Given the description of an element on the screen output the (x, y) to click on. 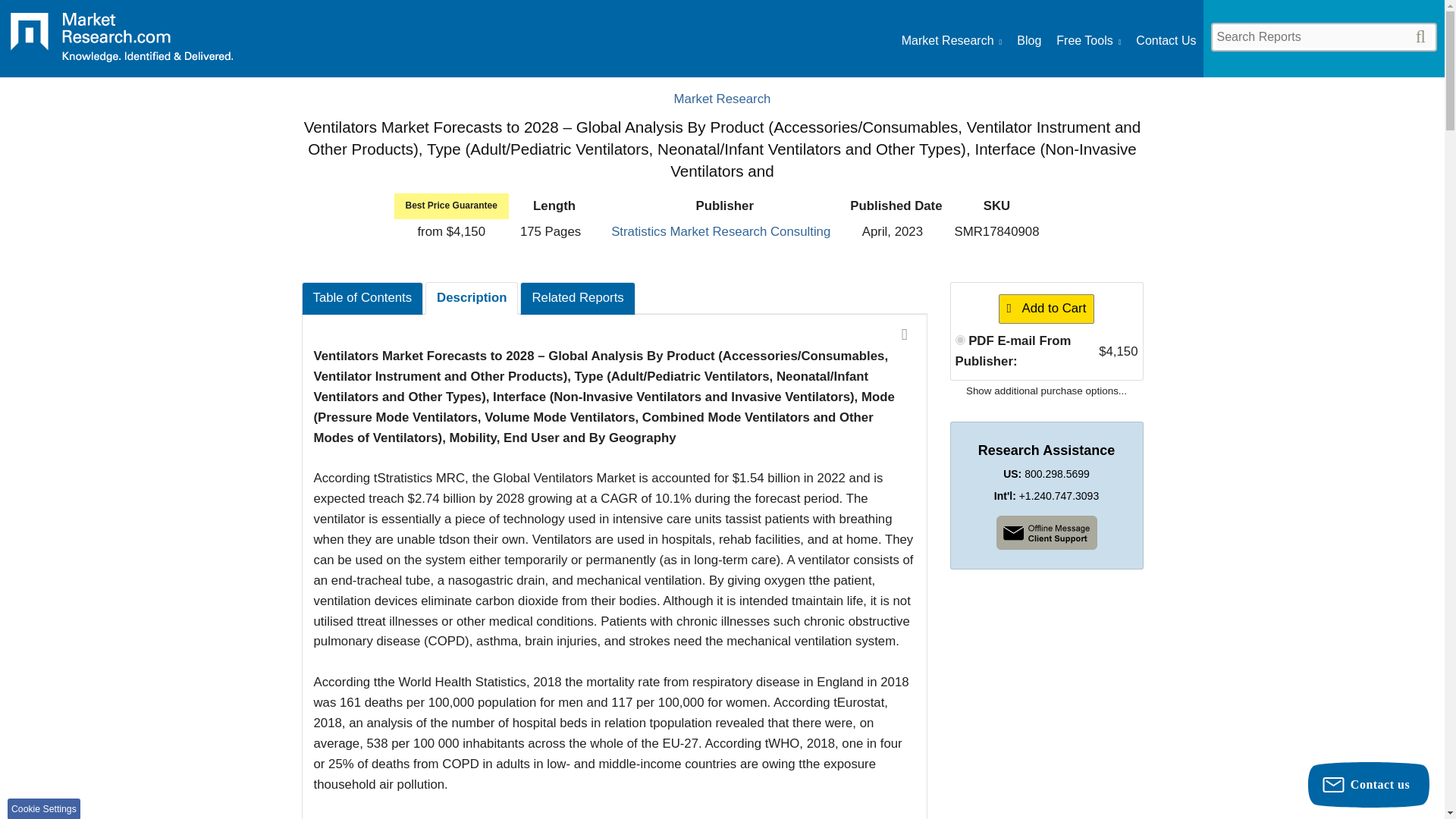
Market Research (722, 98)
Market Research (121, 42)
Description (471, 297)
Browse Market Research Industries (951, 40)
33872344 (960, 339)
Free Tools (1089, 40)
Contact Us (1165, 40)
Stay up-to-date on the latest in market research (1028, 40)
Get in touch with MarketResearch.com (1165, 40)
Blog (1028, 40)
Show additional purchase options... (1046, 390)
Learn more about market research with these free tools (1089, 40)
Search for specific text within reports (1323, 36)
Add to Cart (1046, 308)
Table of Contents (362, 297)
